Given the description of an element on the screen output the (x, y) to click on. 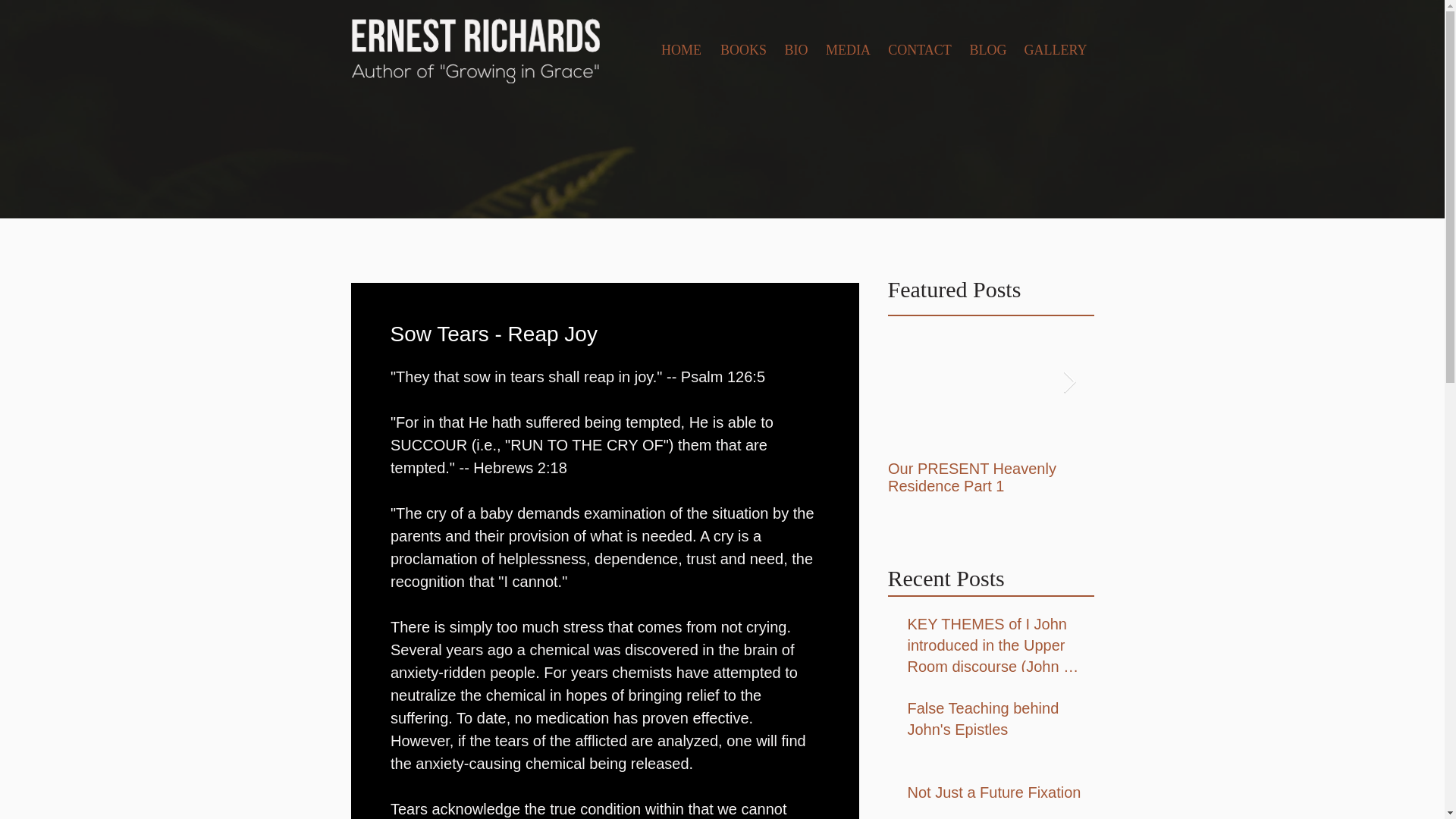
BIO (795, 50)
False Teaching behind John's Epistles (995, 721)
Our PRESENT Heavenly Residence Part 1 (989, 477)
MEDIA (847, 50)
Quick Recap... (1196, 468)
Not Just a Future Fixation (995, 795)
BOOKS (742, 50)
HOME (680, 50)
GALLERY (1055, 50)
CONTACT (919, 50)
BLOG (986, 50)
